Given the description of an element on the screen output the (x, y) to click on. 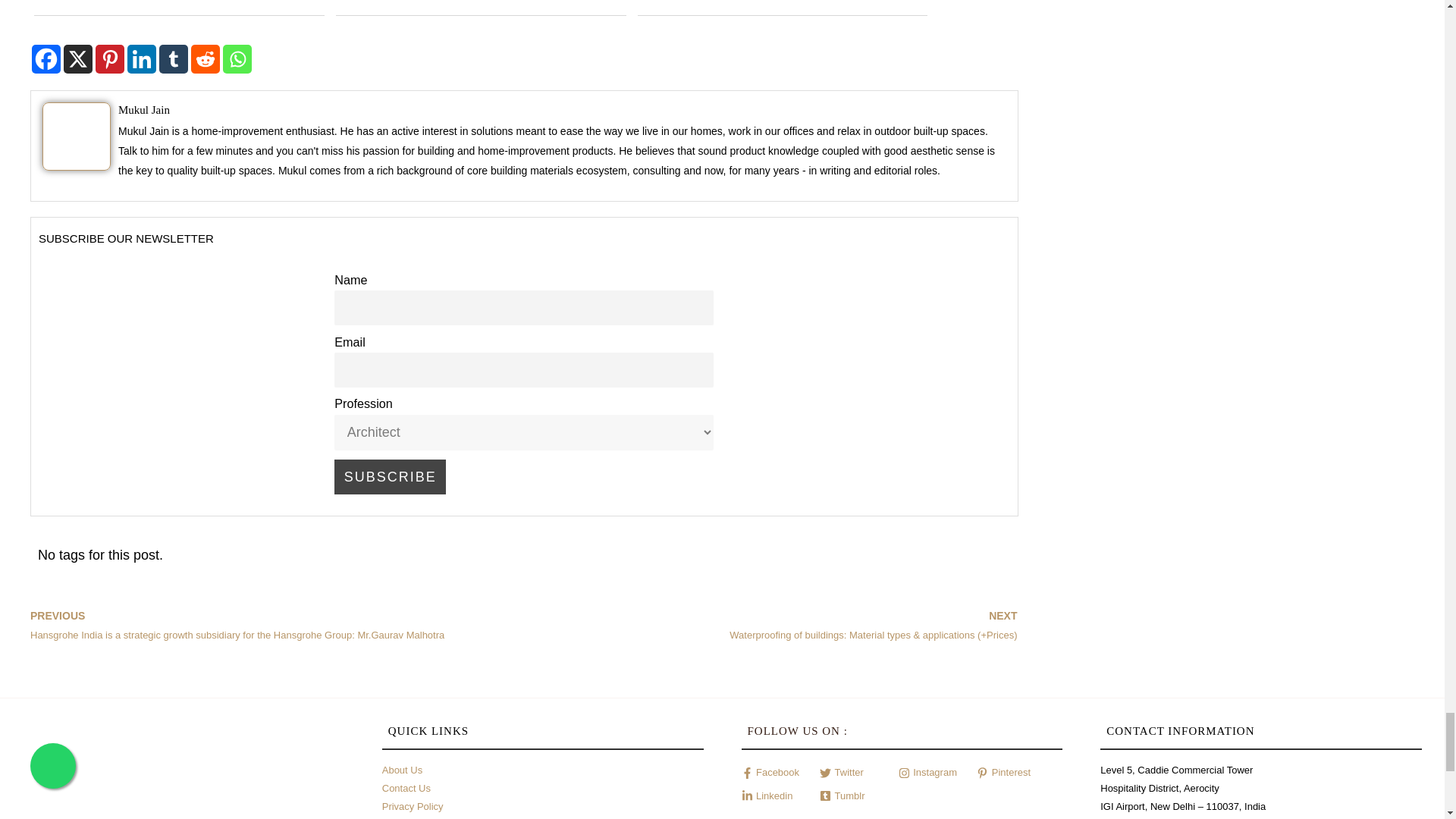
Pinterest (109, 59)
Subscribe (389, 476)
Tumblr (172, 59)
Facebook (46, 59)
X (78, 59)
Linkedin (141, 59)
